Given the description of an element on the screen output the (x, y) to click on. 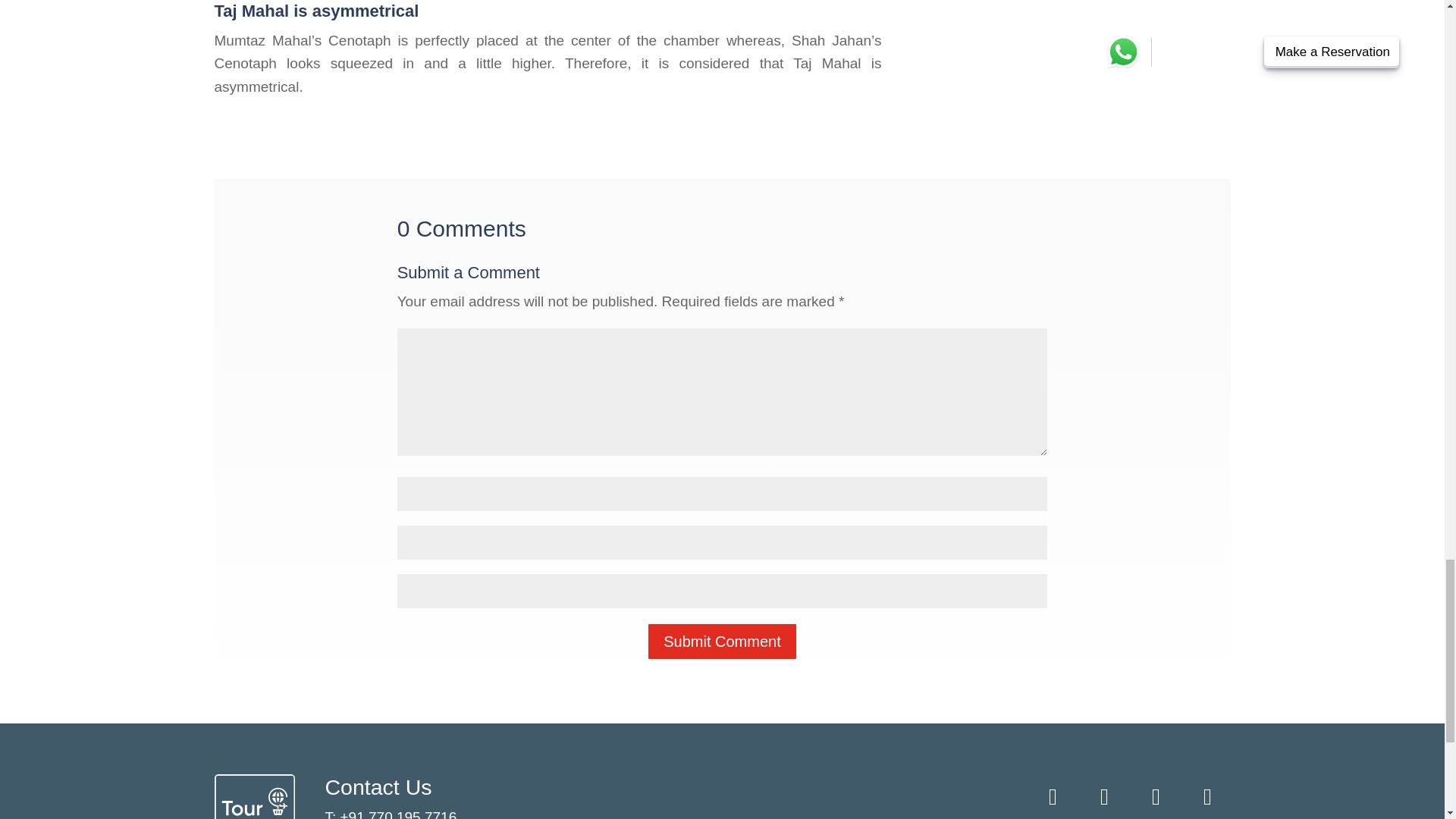
Follow on X (1103, 796)
Follow on Youtube (1207, 796)
Follow on Facebook (1052, 796)
Follow on Instagram (1154, 796)
